Given the description of an element on the screen output the (x, y) to click on. 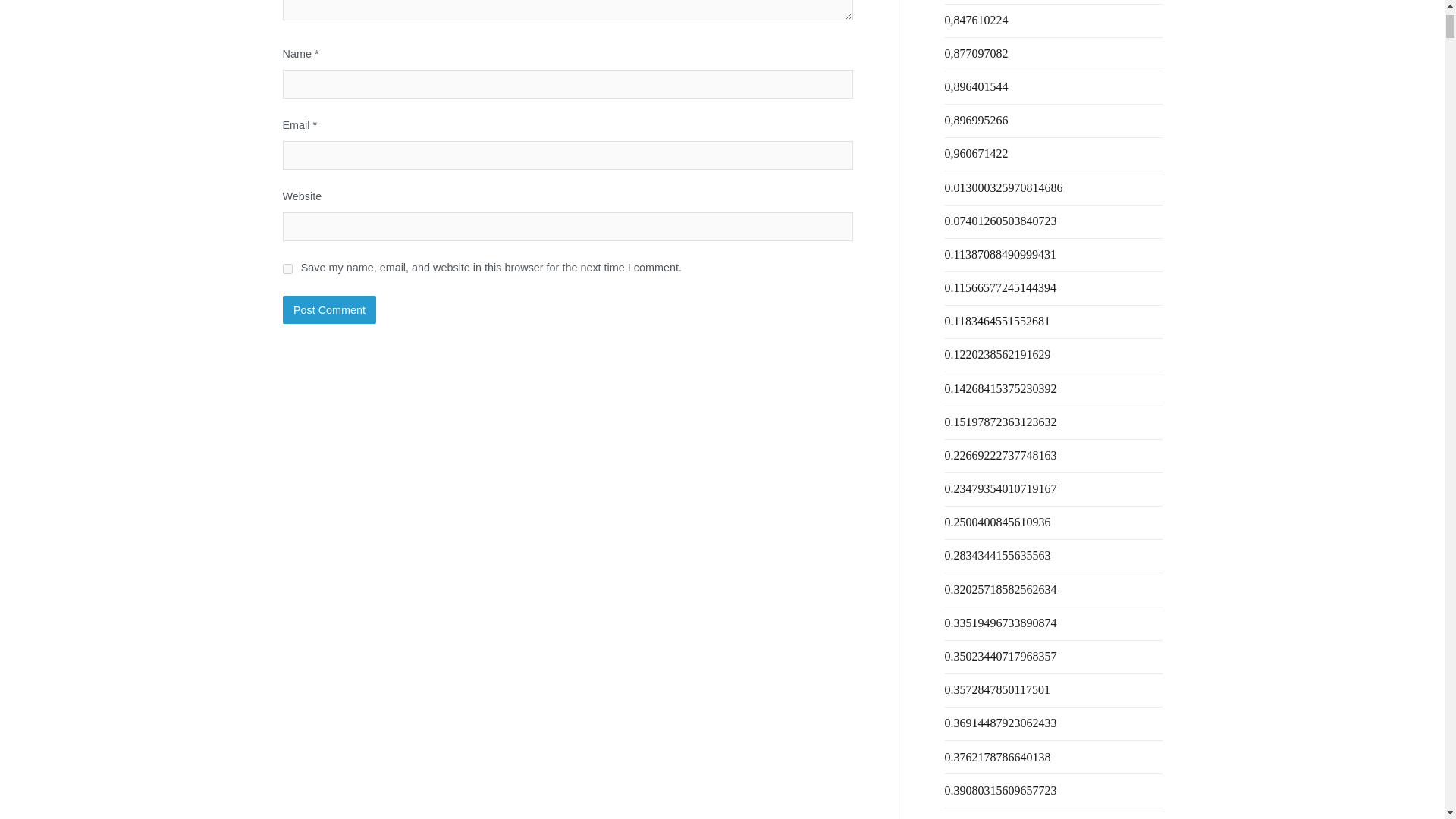
Post Comment (328, 308)
yes (287, 268)
Post Comment (328, 308)
